Given the description of an element on the screen output the (x, y) to click on. 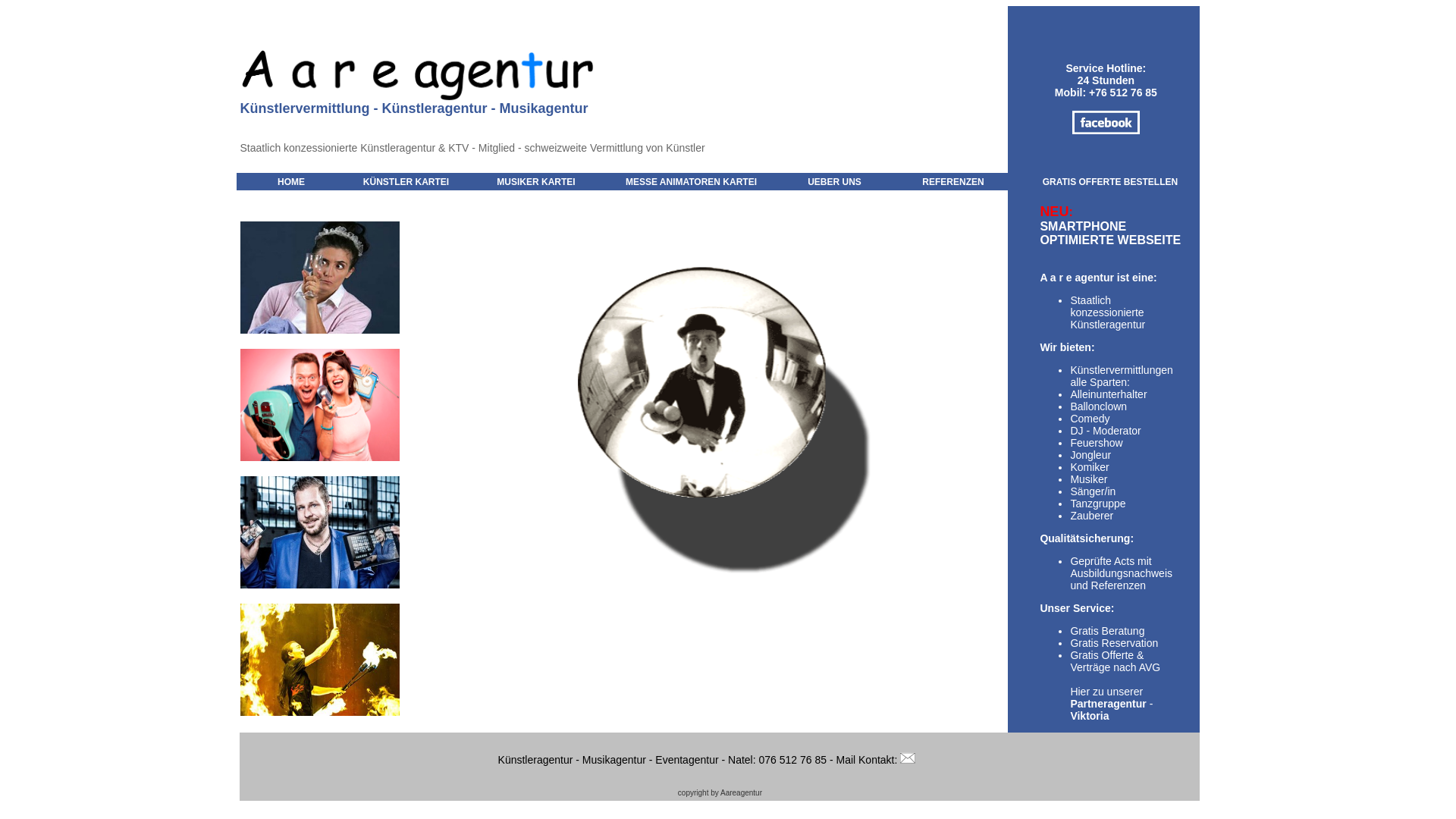
NEU:
SMARTPHONE OPTIMIERTE WEBSEITE Element type: text (1109, 232)
GRATIS OFFERTE BESTELLEN Element type: text (1109, 181)
Hier zu unserer Partneragentur - Viktoria Element type: text (1111, 703)
UEBER UNS Element type: text (834, 181)
REFERENZEN Element type: text (952, 181)
MESSE ANIMATOREN KARTEI Element type: text (690, 181)
MUSIKER KARTEI Element type: text (535, 181)
HOME Element type: text (290, 181)
